Given the description of an element on the screen output the (x, y) to click on. 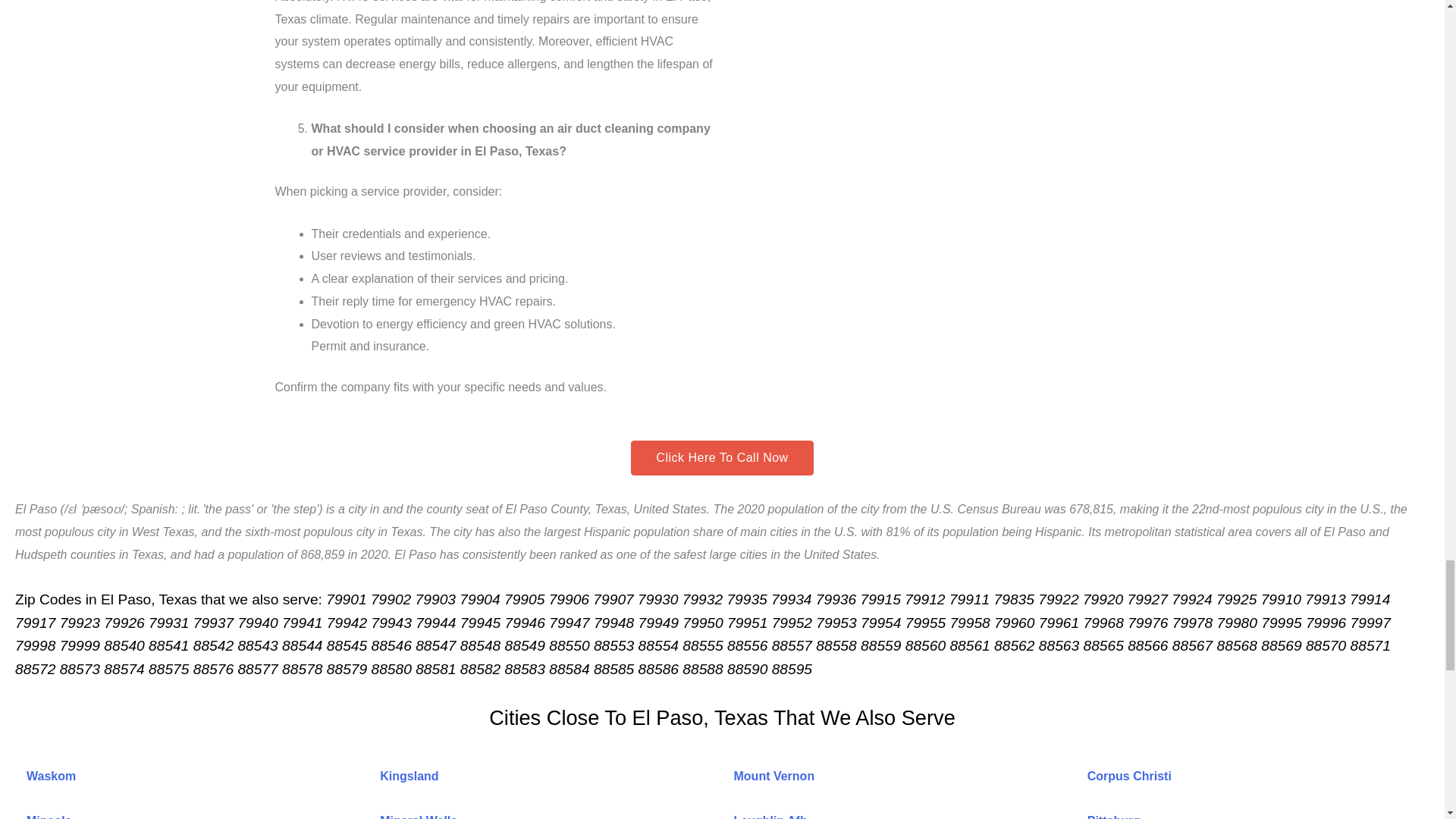
Mineral Wells (418, 816)
Kingsland (409, 775)
Waskom (50, 775)
Laughlin Afb (770, 816)
Click Here To Call Now (721, 457)
Corpus Christi (1129, 775)
Mineola (48, 816)
Pittsburg (1113, 816)
Mount Vernon (774, 775)
